Given the description of an element on the screen output the (x, y) to click on. 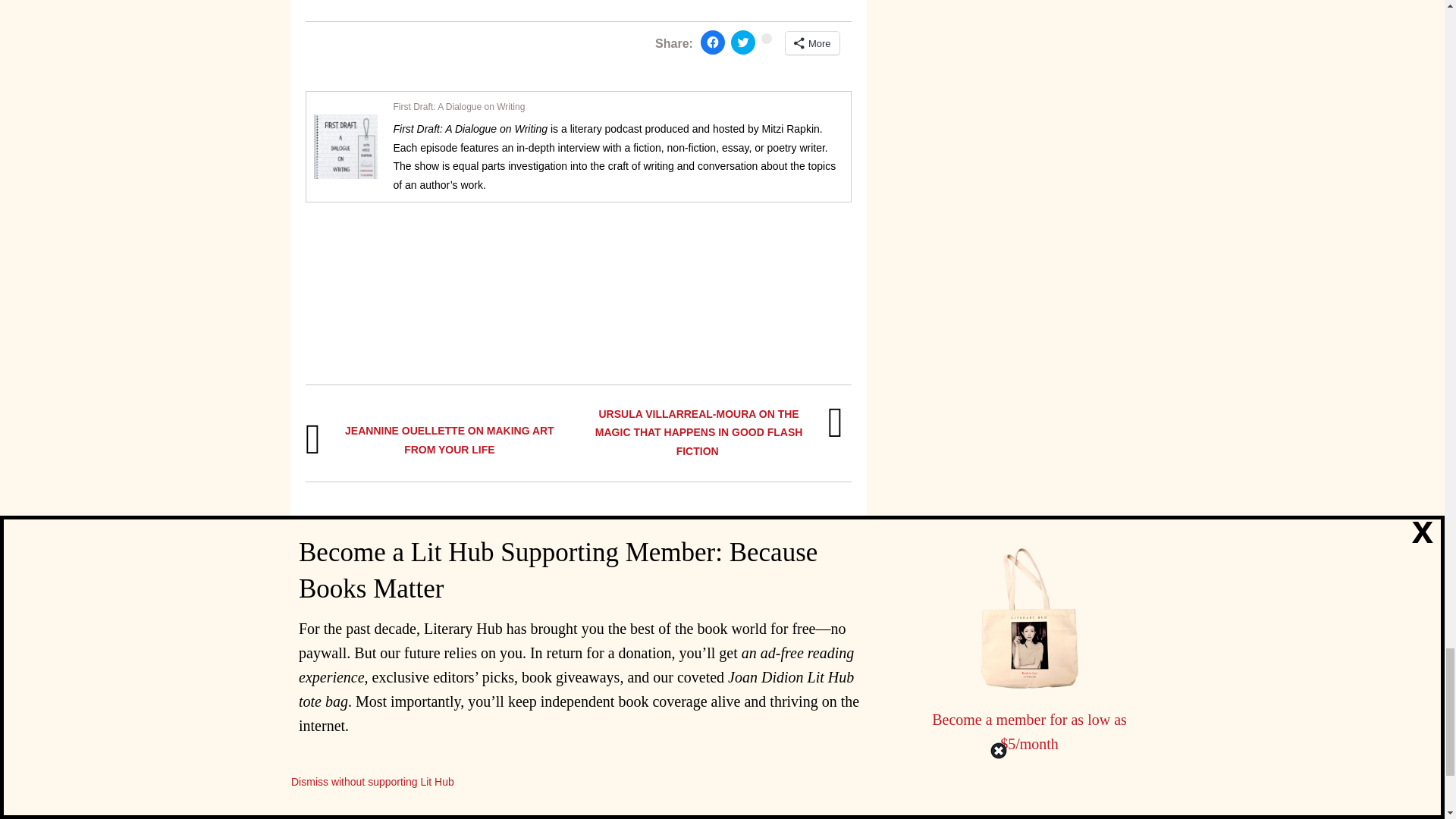
Click to share on Twitter (742, 42)
Share on Facebook (712, 42)
